Given the description of an element on the screen output the (x, y) to click on. 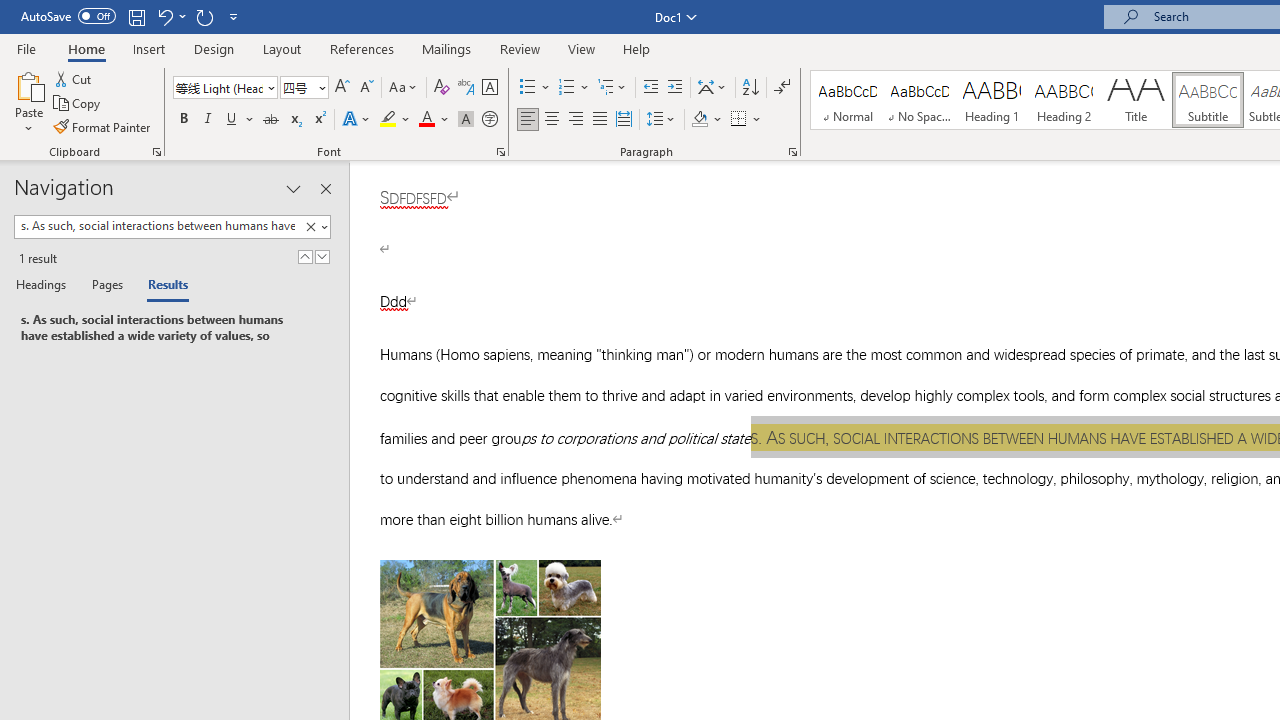
Insert (149, 48)
